Given the description of an element on the screen output the (x, y) to click on. 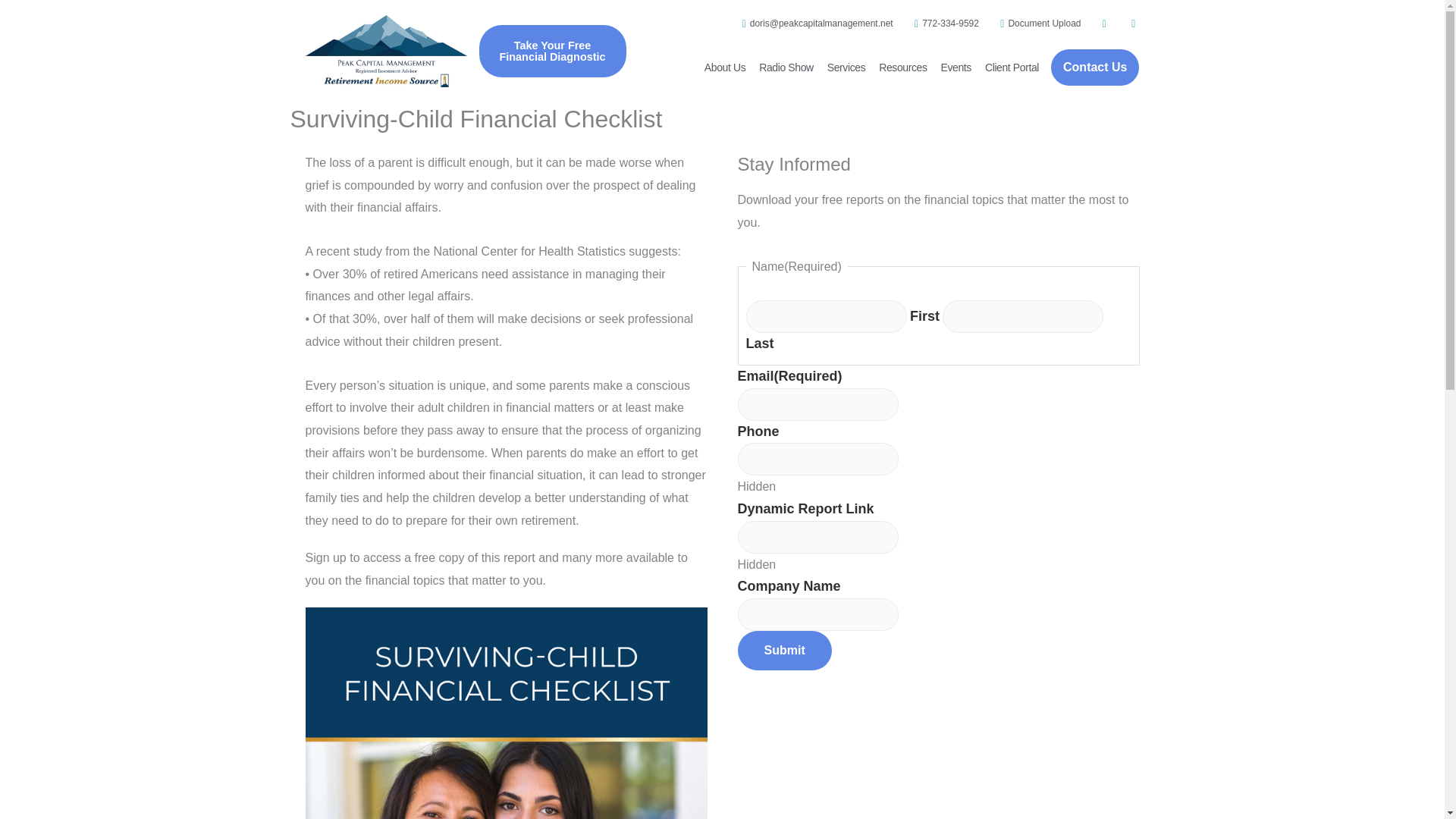
Services (845, 66)
Submit (783, 650)
772-334-9592 (941, 23)
Document Upload (1036, 23)
Client Portal (1012, 66)
Radio Show (785, 66)
Resources (902, 66)
About Us (724, 66)
Take Your Free Financial Diagnostic (552, 50)
